Given the description of an element on the screen output the (x, y) to click on. 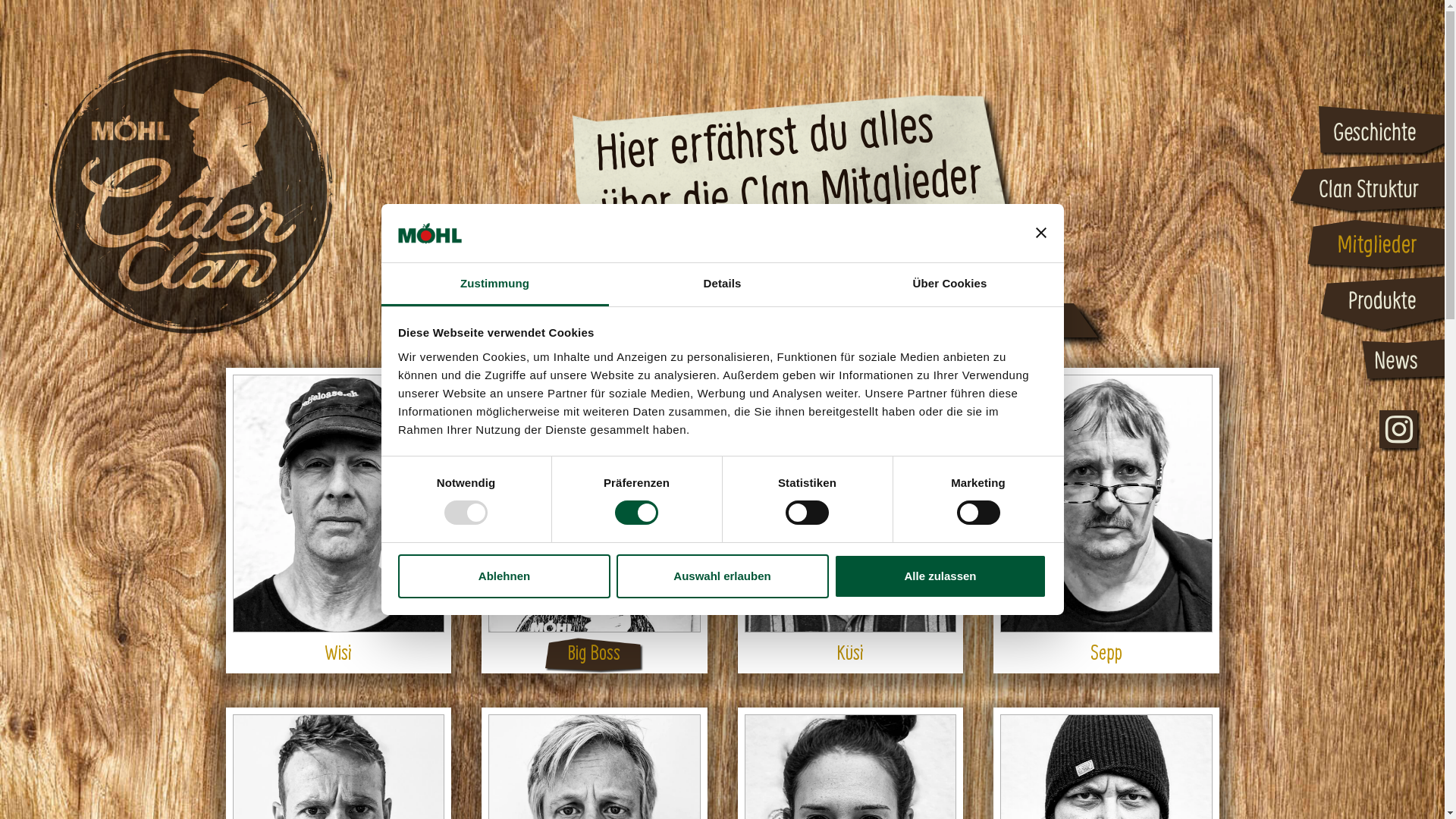
CRAFTYs Element type: text (1033, 323)
Alle zulassen Element type: text (940, 576)
HARDY Element type: text (922, 323)
Details Element type: text (721, 284)
Auswahl erlauben Element type: text (721, 576)
Ablehnen Element type: text (504, 576)
Alle Element type: text (879, 323)
Zustimmung Element type: text (494, 284)
TASTYs Element type: text (975, 323)
